Given the description of an element on the screen output the (x, y) to click on. 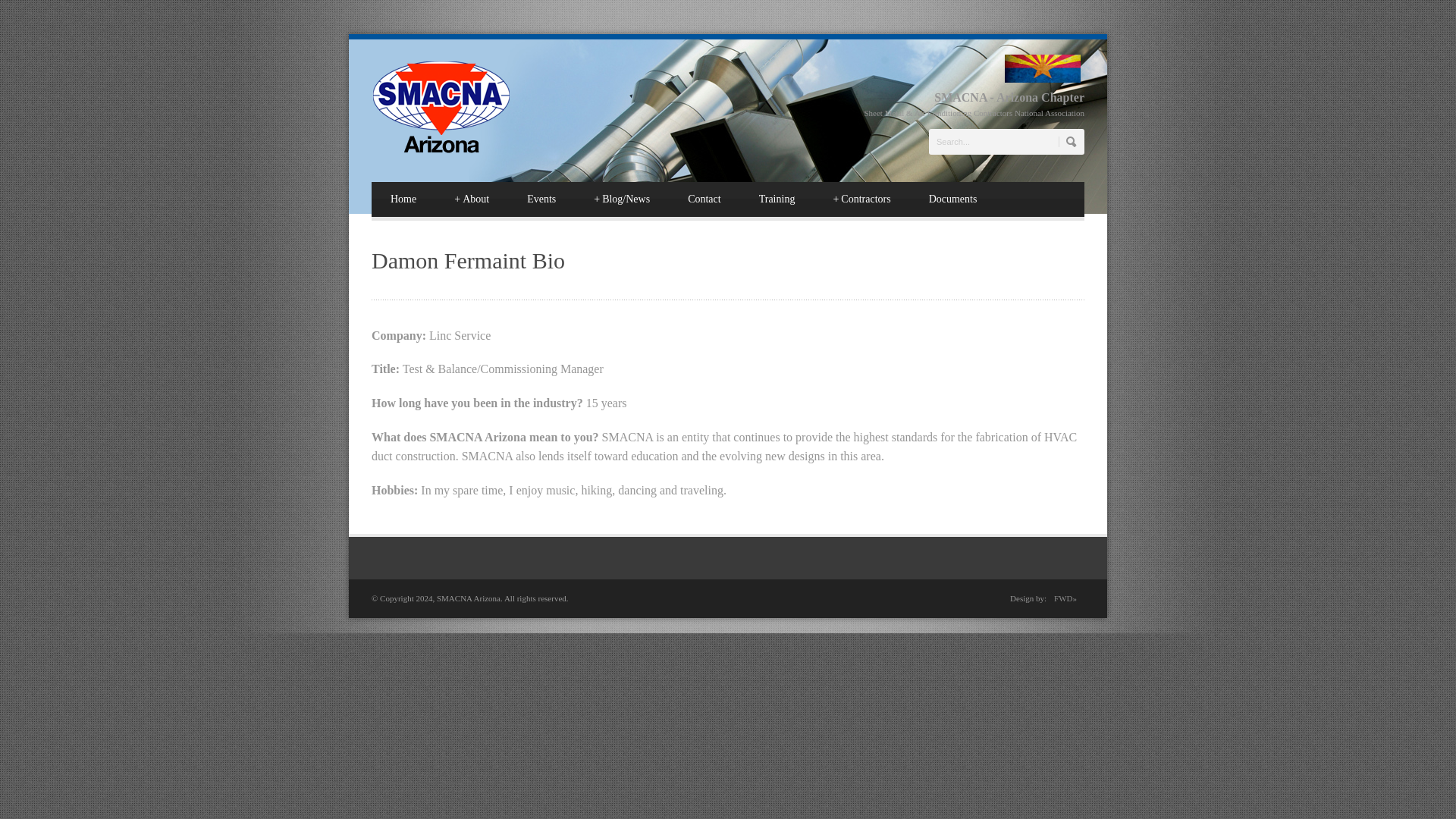
Contact (703, 199)
Home (403, 199)
Documents (952, 199)
Events (541, 199)
Search... (1006, 141)
TRAINING ADVANTAGE (776, 199)
CONTRACTOR EXPERTISE (860, 199)
TRAINING ADVANTAGE (703, 199)
Training (776, 199)
